Given the description of an element on the screen output the (x, y) to click on. 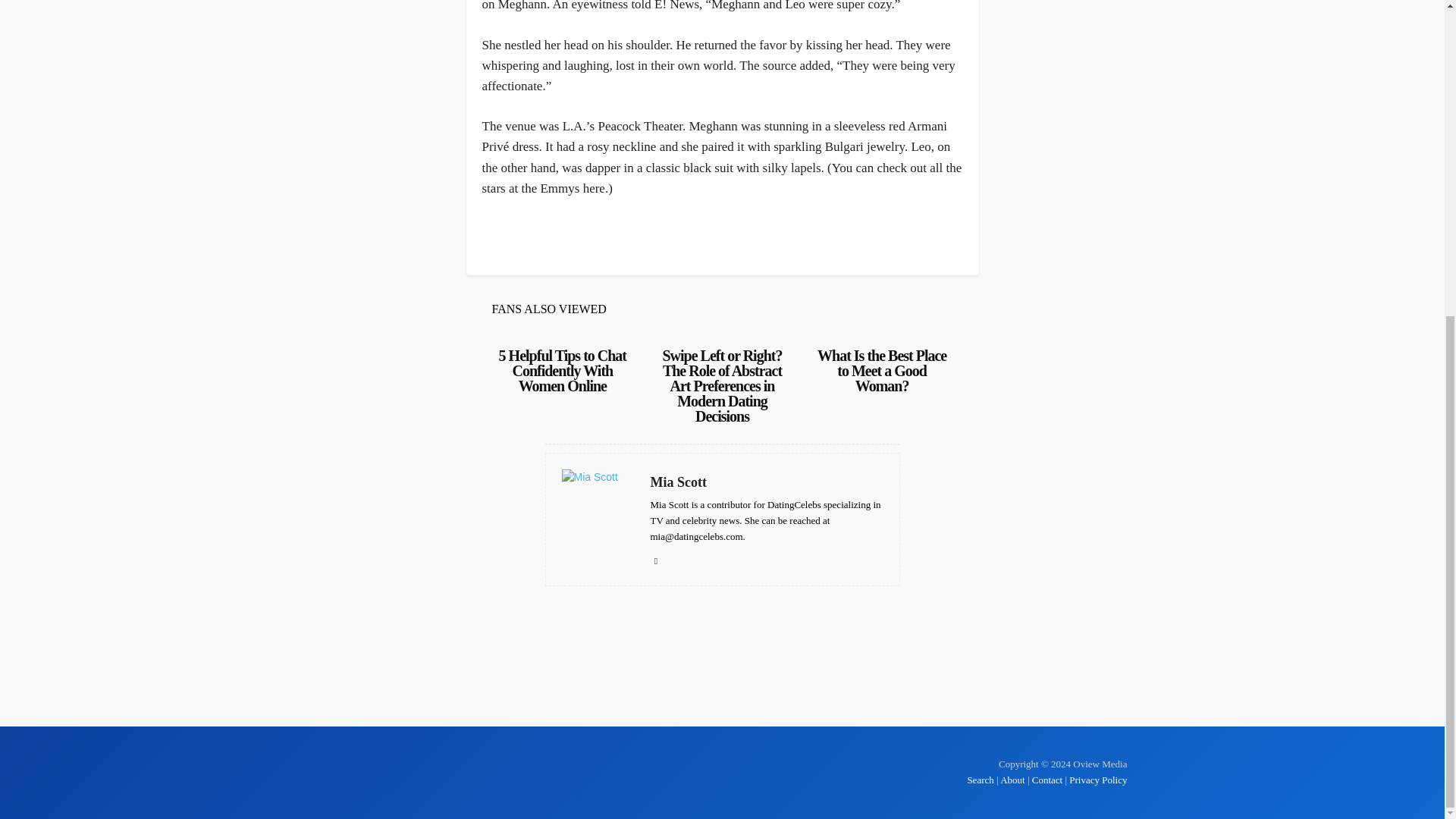
Contact (1047, 779)
What Is the Best Place to Meet a Good Woman? (881, 370)
Mia Scott (596, 519)
What Is the Best Place to Meet a Good Woman? (881, 370)
Search (980, 779)
Privacy Policy (1097, 779)
Mia Scott (766, 482)
5 Helpful Tips to Chat Confidently With Women Online (562, 370)
About (1012, 779)
5 Helpful Tips to Chat Confidently With Women Online (562, 370)
